Given the description of an element on the screen output the (x, y) to click on. 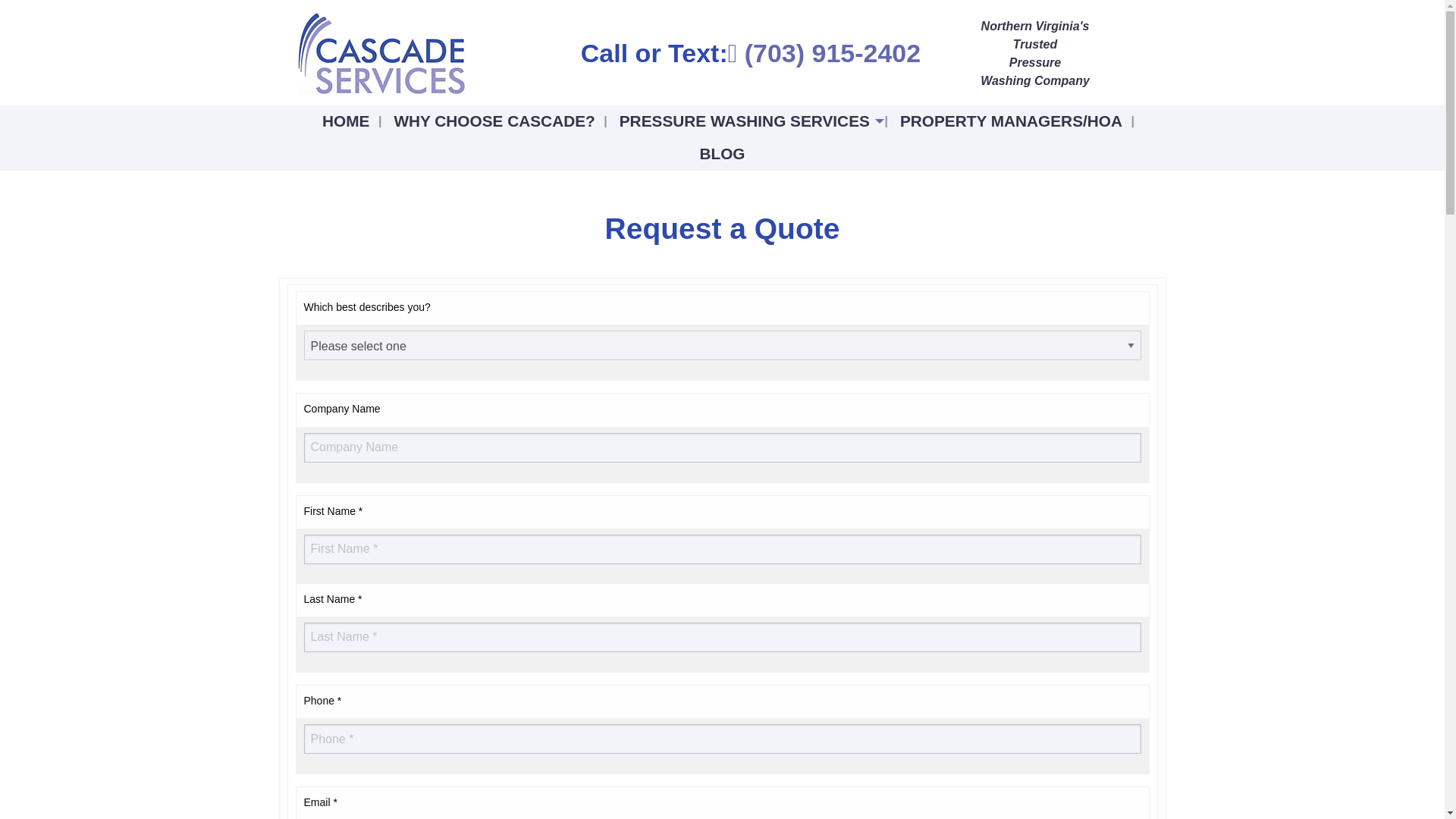
HOME (345, 120)
BLOG (722, 154)
PRESSURE WASHING SERVICES (747, 120)
WHY CHOOSE CASCADE? (494, 120)
